Given the description of an element on the screen output the (x, y) to click on. 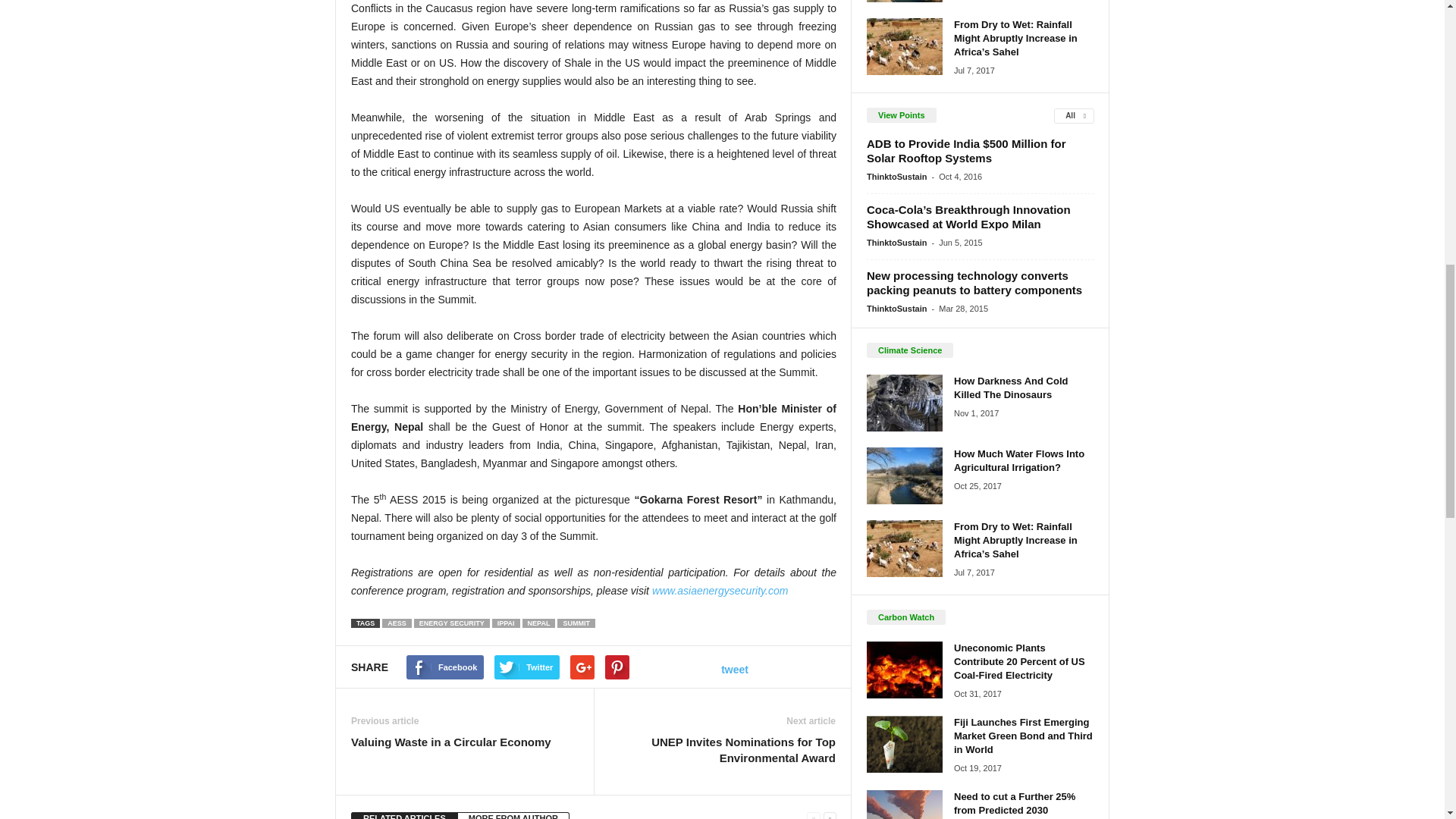
www.asiaenergysecurity.com (719, 590)
ENERGY SECURITY (451, 623)
IPPAI (505, 623)
AESS (396, 623)
